Given the description of an element on the screen output the (x, y) to click on. 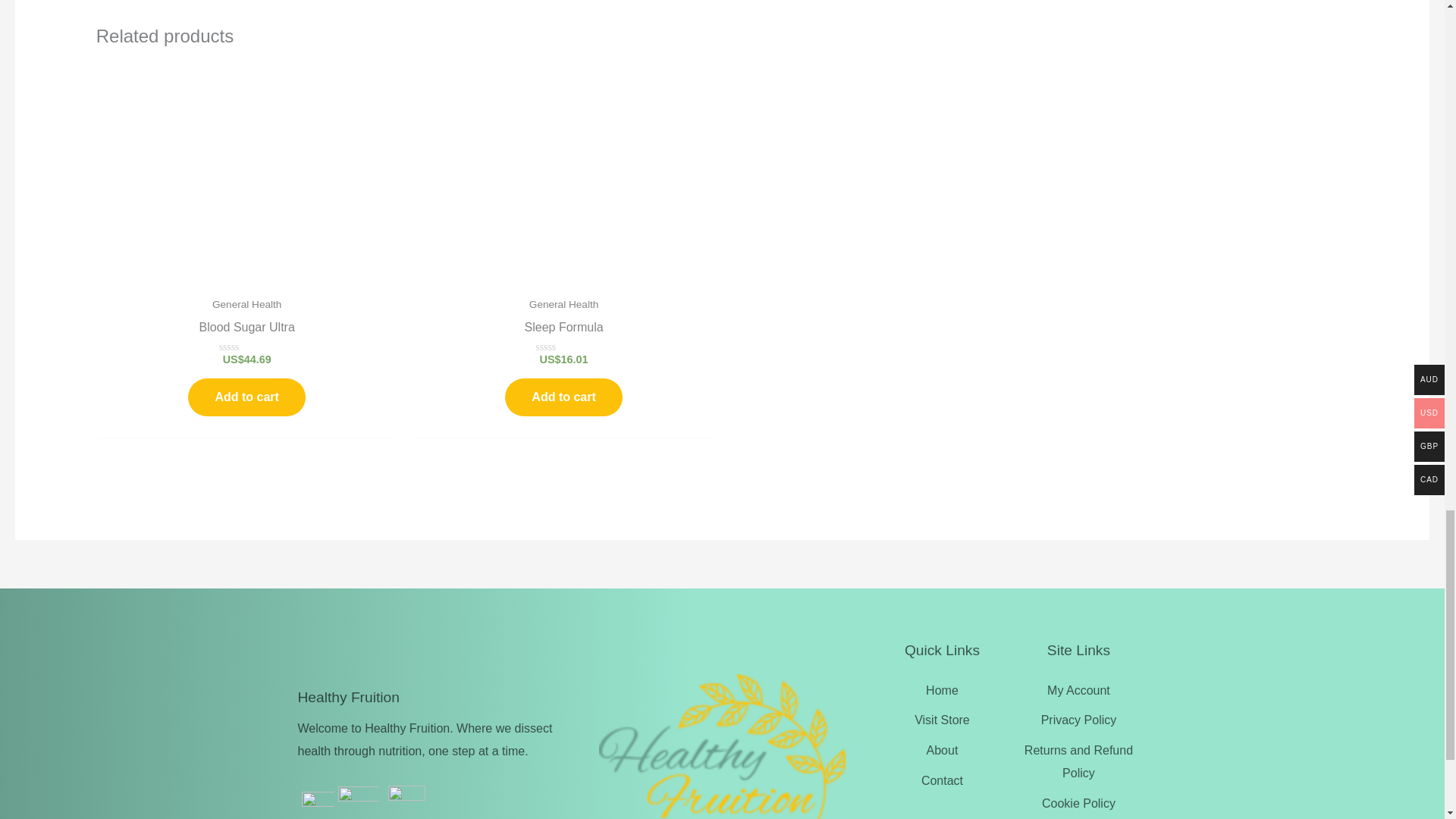
Blood Sugar Ultra (247, 331)
Sleep Formula (564, 331)
Add to cart (245, 397)
